Given the description of an element on the screen output the (x, y) to click on. 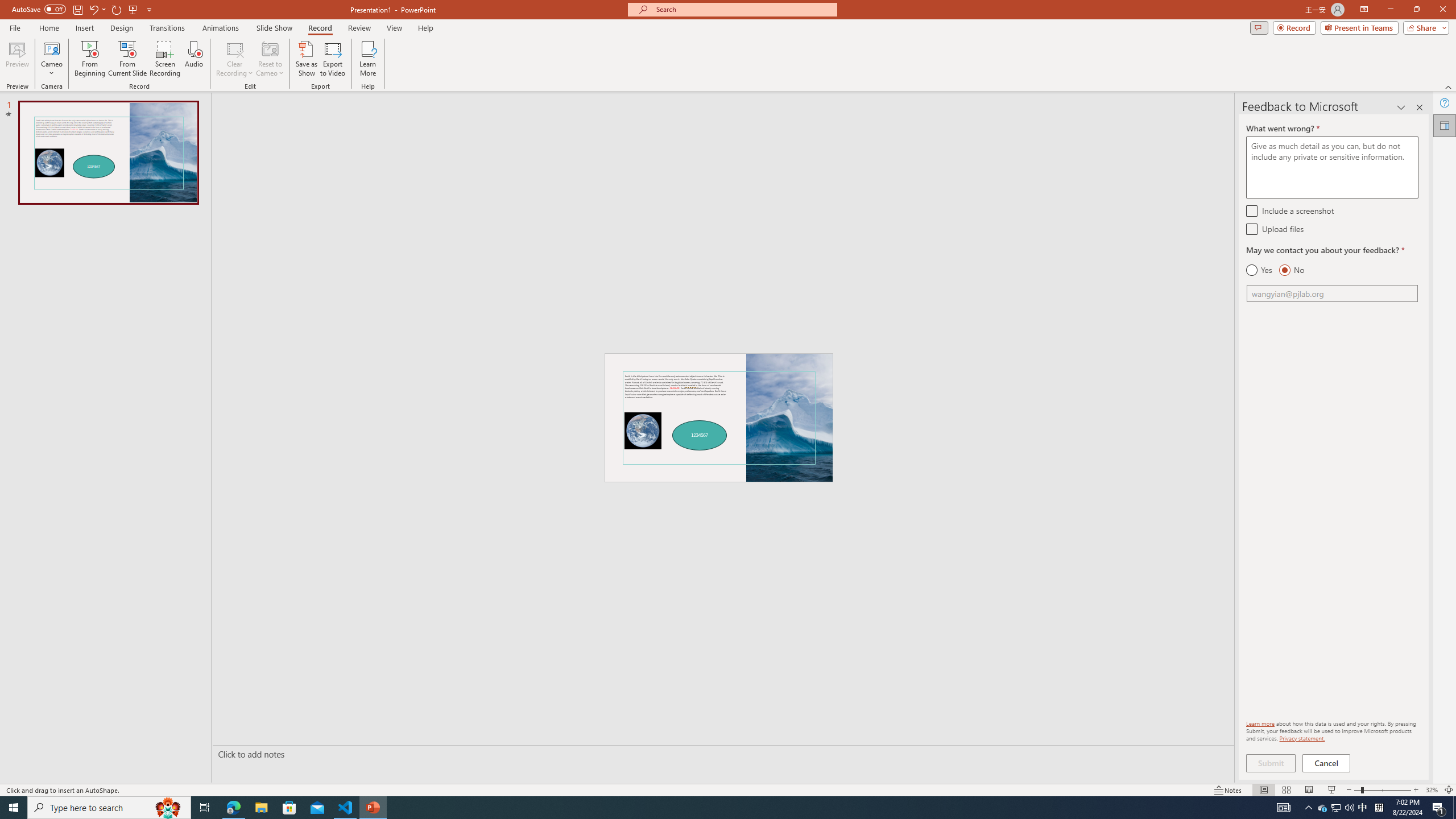
Zoom 32% (1431, 790)
Yes (1259, 269)
What went wrong? * (1332, 167)
